Given the description of an element on the screen output the (x, y) to click on. 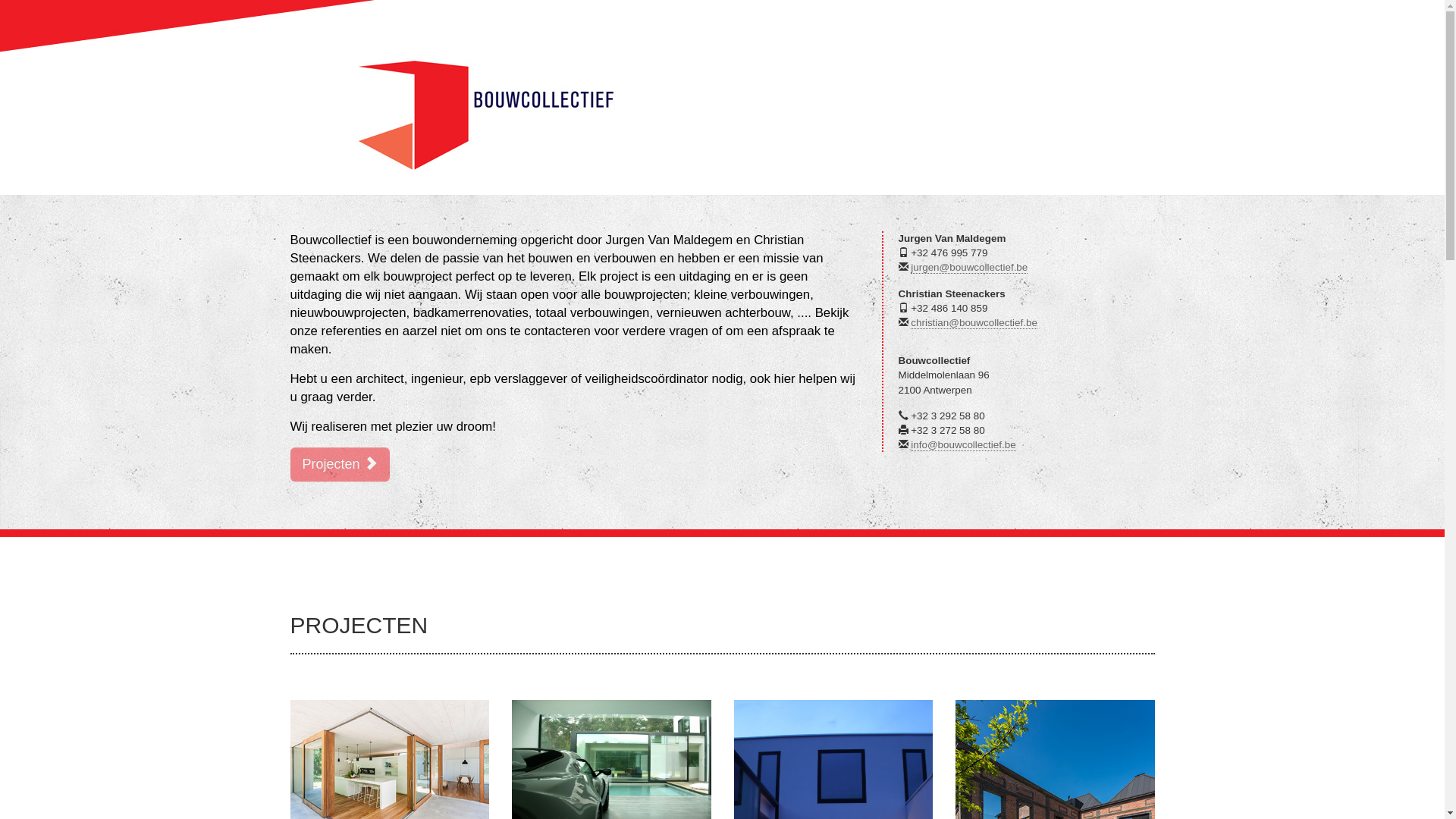
Projecten Element type: text (339, 464)
jurgen@bouwcollectief.be Element type: text (968, 267)
info@bouwcollectief.be Element type: text (962, 445)
Bouwcollectief Element type: hover (490, 112)
christian@bouwcollectief.be Element type: text (973, 322)
